Given the description of an element on the screen output the (x, y) to click on. 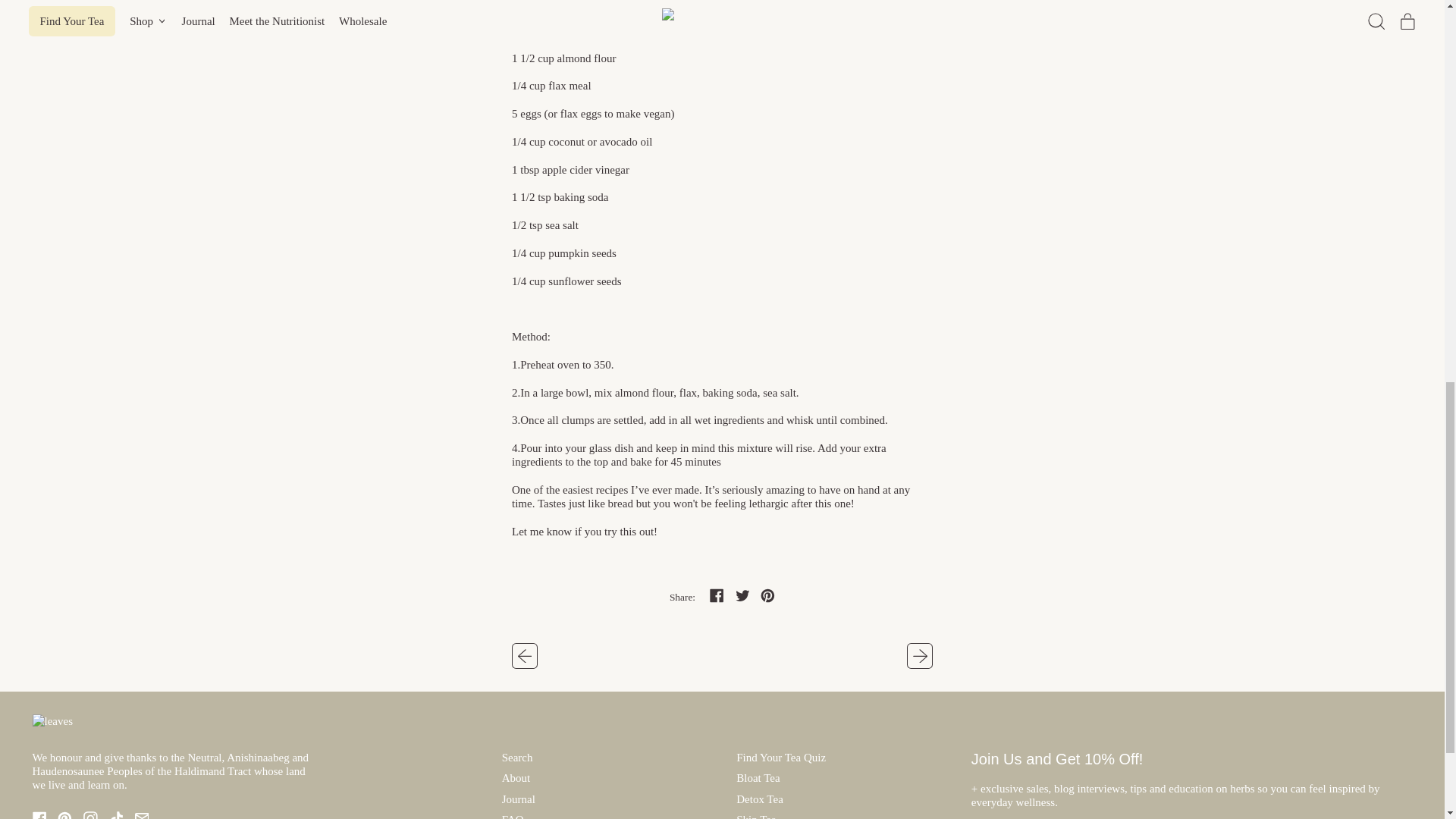
Skin Tea (756, 816)
Journal (518, 799)
TikTok (116, 817)
Detox Tea (759, 799)
Bloat Tea (757, 777)
About (516, 777)
Email (142, 817)
Pin on Pinterest (767, 597)
Search (517, 757)
FAQ (513, 816)
